Given the description of an element on the screen output the (x, y) to click on. 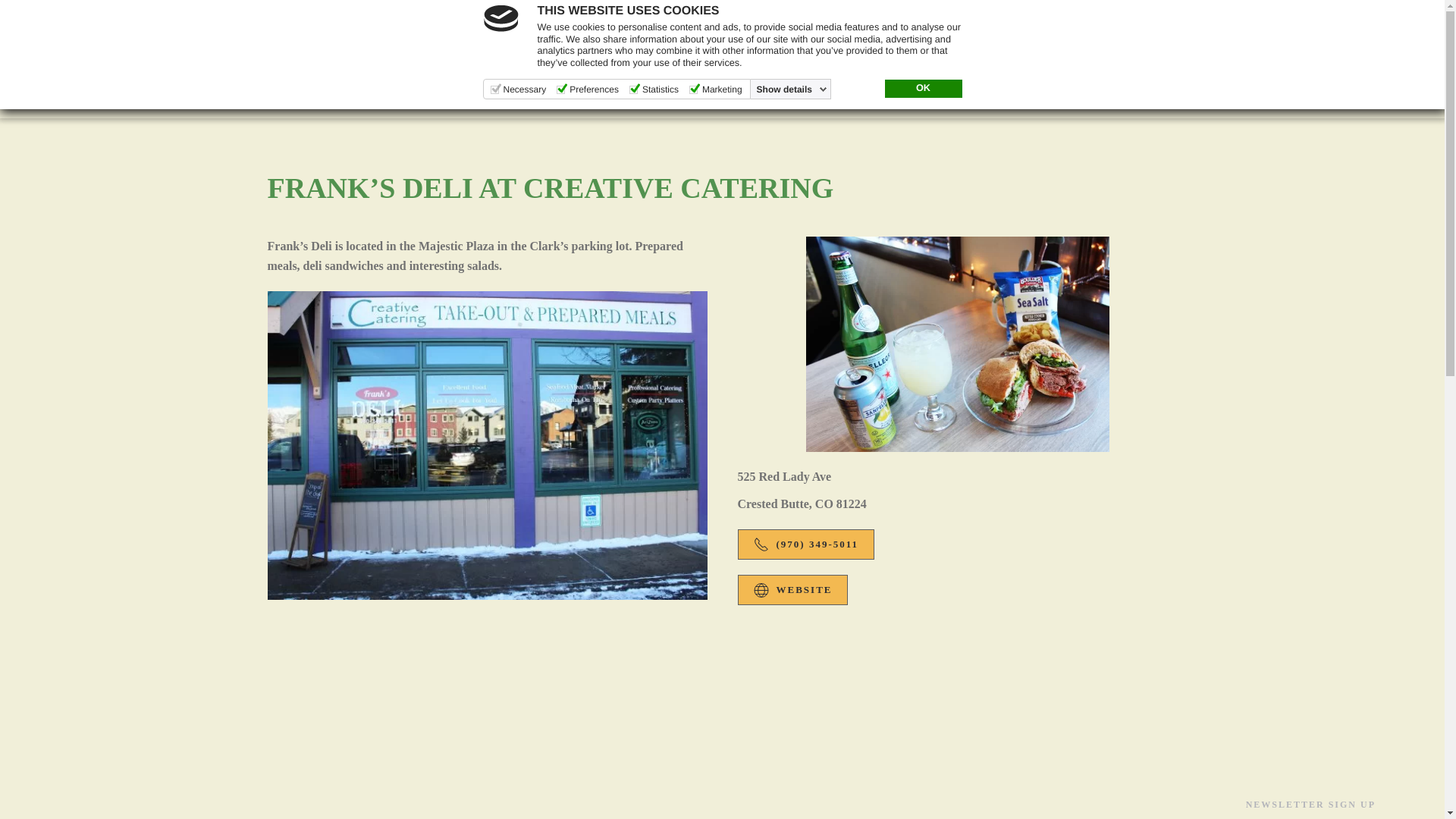
OK (921, 88)
Show details (791, 89)
